Given the description of an element on the screen output the (x, y) to click on. 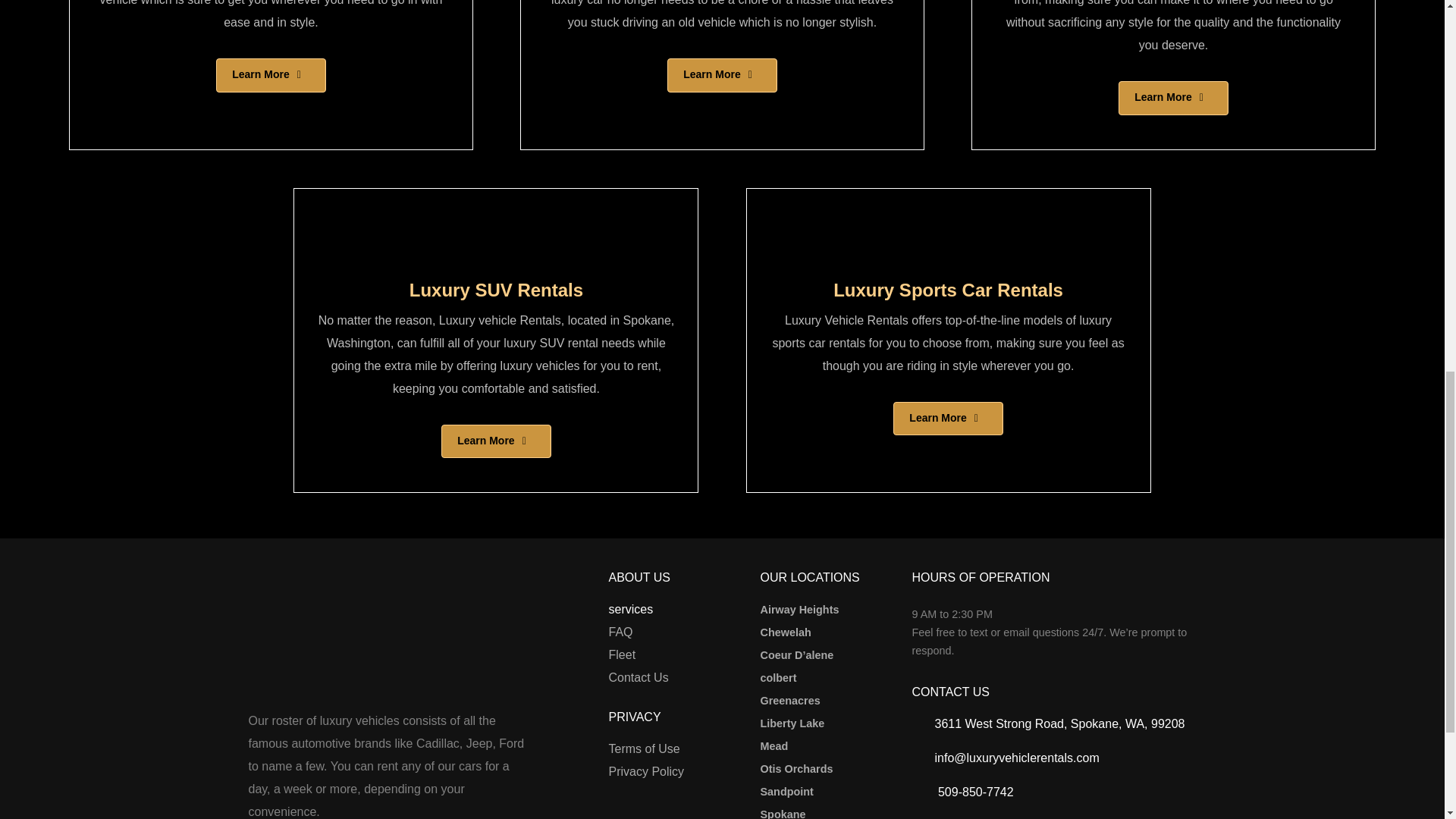
Terms of Use (643, 748)
Learn More (269, 75)
Learn More (1172, 98)
Privacy Policy (646, 771)
Learn More (495, 441)
Fleet (621, 654)
logo-luxury (309, 639)
Learn More (721, 75)
Contact Us (638, 677)
services (630, 609)
